Given the description of an element on the screen output the (x, y) to click on. 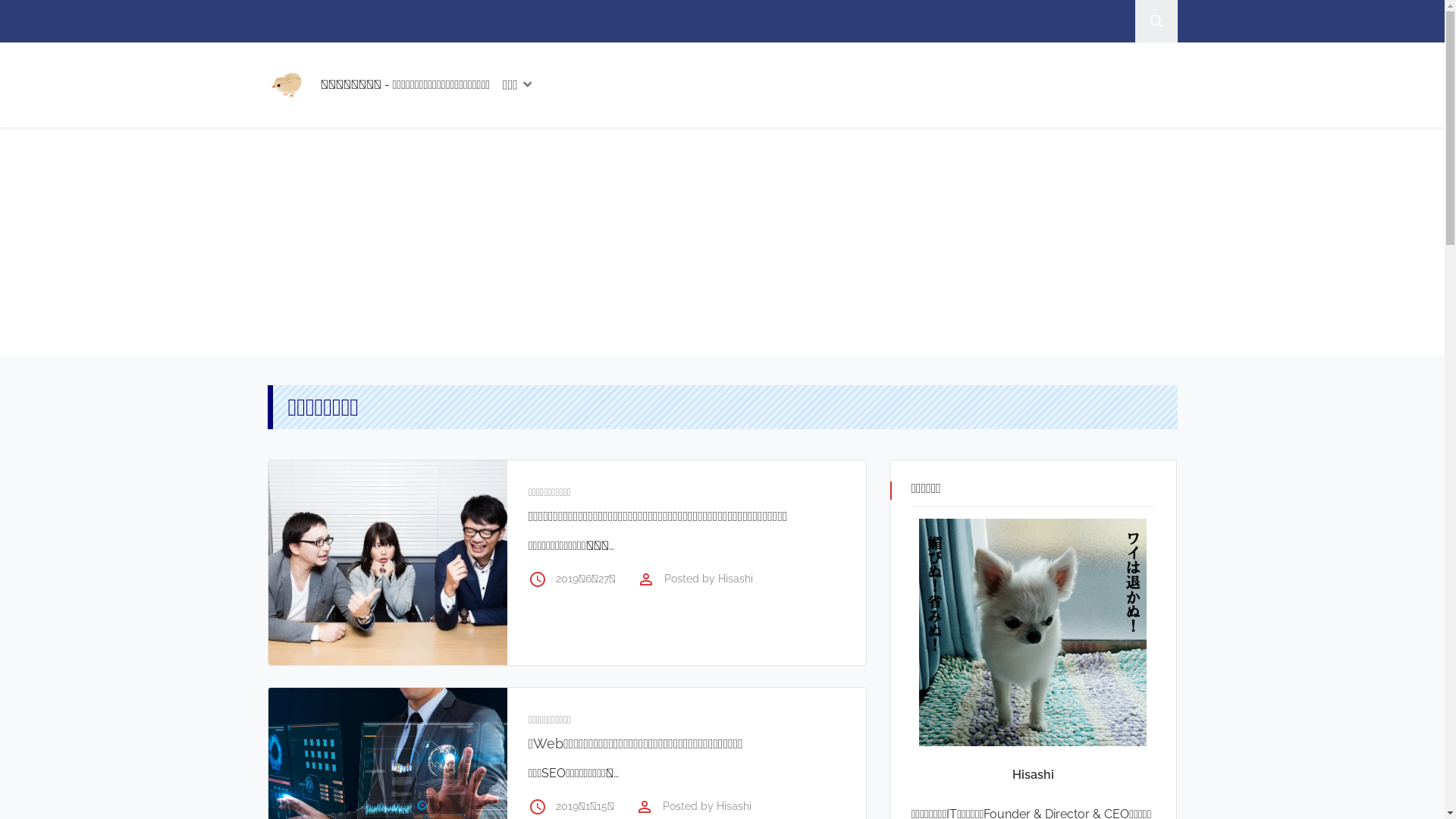
Hisashi Element type: text (735, 578)
Advertisement Element type: hover (721, 240)
Hisashi Element type: text (733, 806)
